Given the description of an element on the screen output the (x, y) to click on. 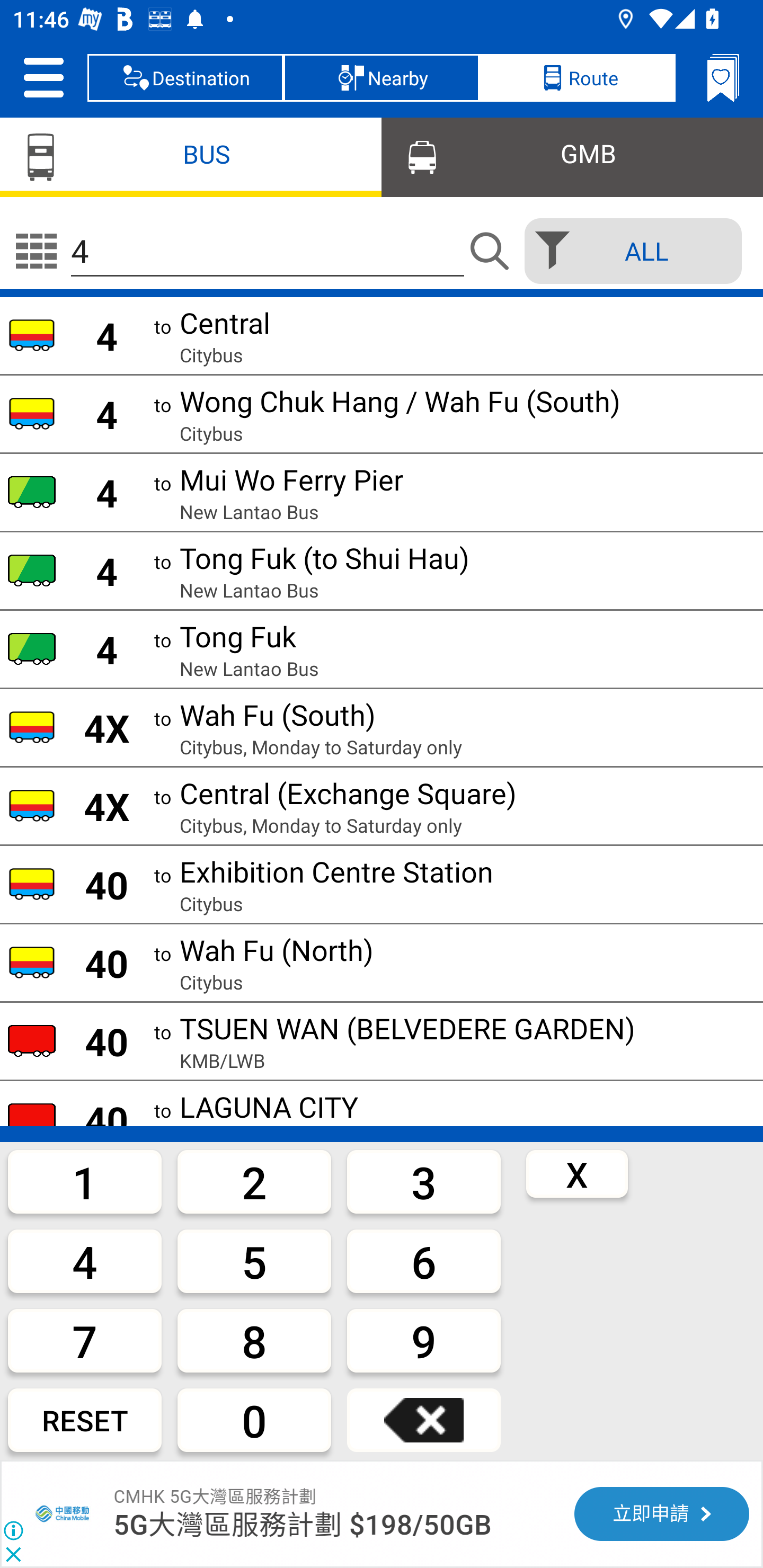
Destination (185, 77)
Nearby (381, 77)
Route, selected (577, 77)
Bookmarks (723, 77)
Setting (43, 77)
BUS, selected (190, 155)
GMB (572, 155)
selected ALL (627, 250)
no (36, 250)
1 (84, 1181)
2 (254, 1181)
3 (423, 1181)
X (576, 1173)
4 (84, 1261)
5 (254, 1261)
6 (423, 1261)
7 (84, 1340)
8 (254, 1340)
9 (423, 1340)
RESET (84, 1419)
0 (254, 1419)
CMHK 5G大灣區服務計劃 (63, 1513)
CMHK 5G大灣區服務計劃 (215, 1495)
立即申請 (661, 1513)
5G大灣區服務計劃 $198/50GB (302, 1524)
